Given the description of an element on the screen output the (x, y) to click on. 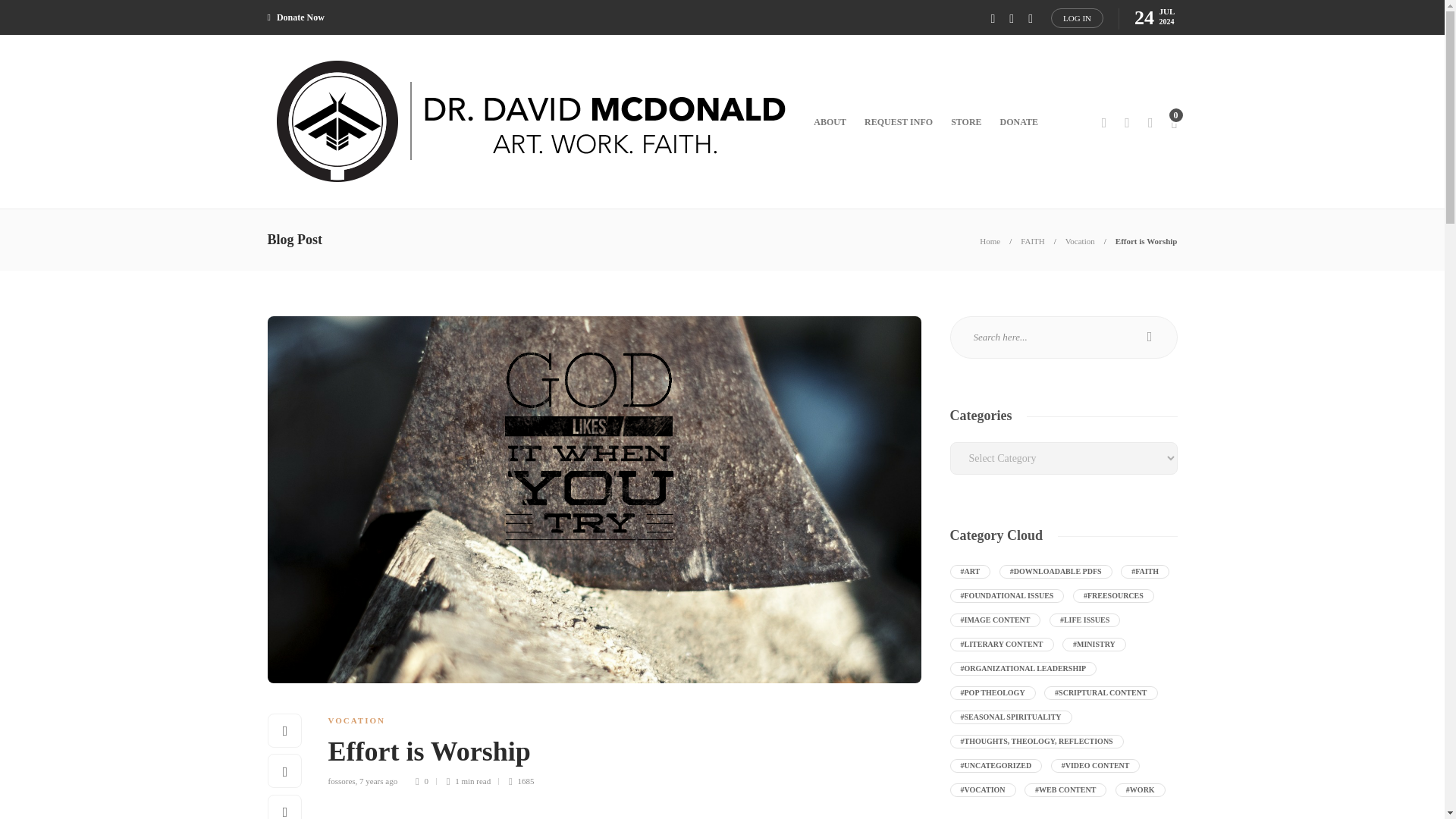
Home (989, 240)
VOCATION (355, 719)
Home (989, 240)
LOG IN (1077, 17)
Donate Now (294, 17)
Effort is Worship  (612, 755)
Effort is Worship (1146, 240)
REQUEST INFO (898, 120)
Vocation (1079, 240)
Search text (1062, 337)
FAITH (1032, 240)
